Given the description of an element on the screen output the (x, y) to click on. 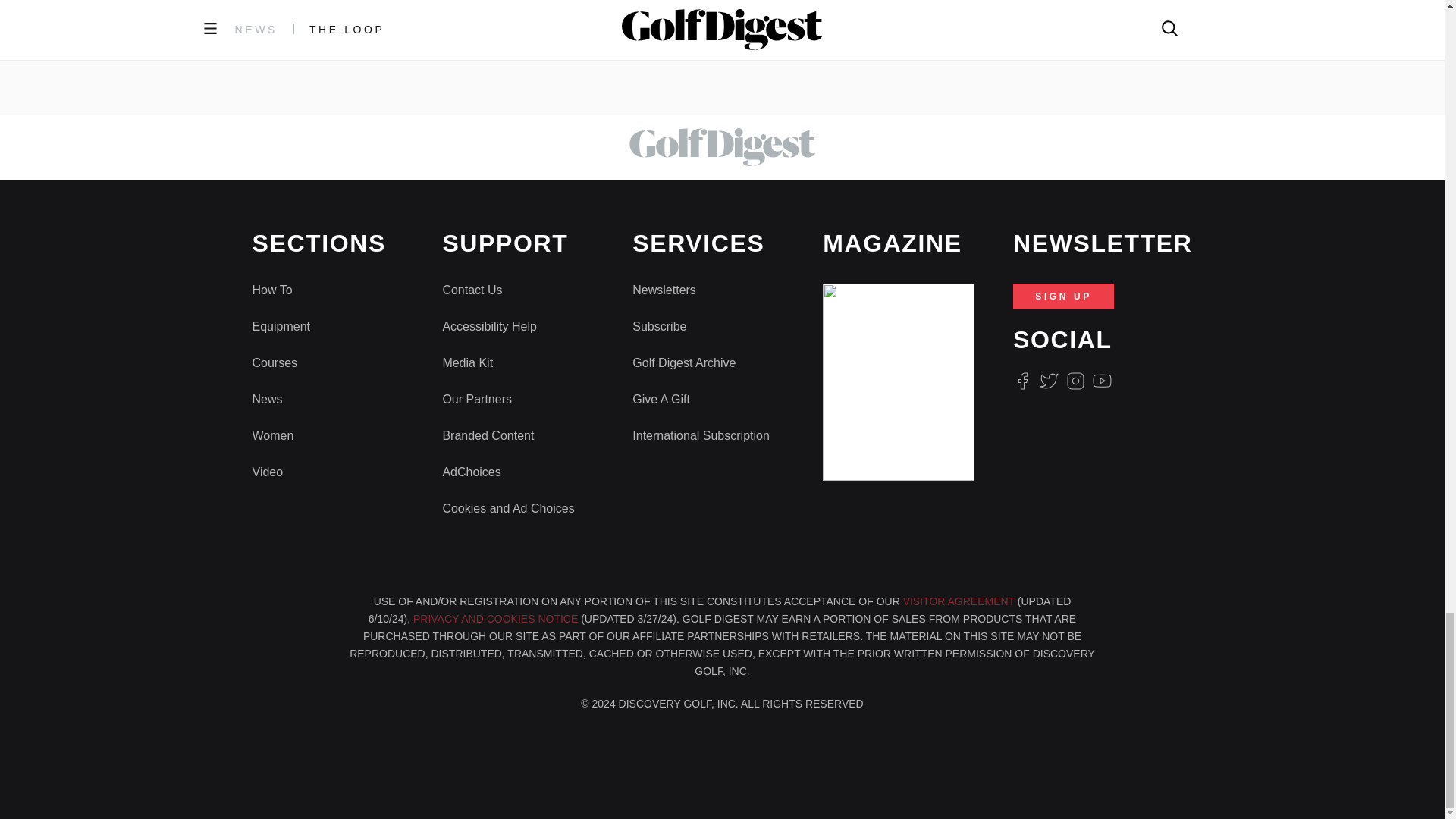
Youtube Icon (1102, 380)
Facebook Logo (1022, 380)
Twitter Logo (1048, 380)
Instagram Logo (1074, 380)
